Given the description of an element on the screen output the (x, y) to click on. 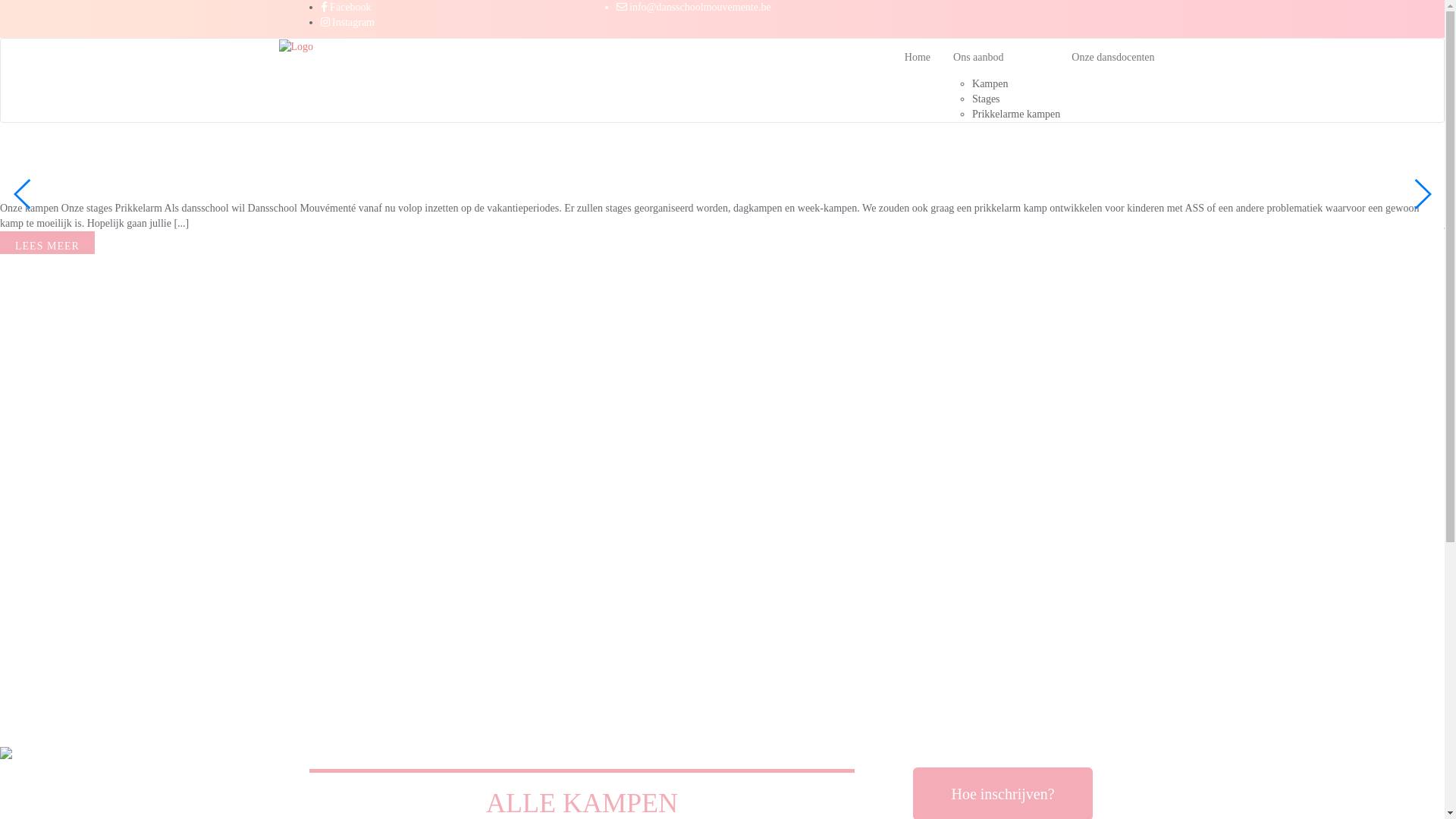
Instagram Element type: text (346, 22)
Ons aanbod Element type: text (1000, 57)
Facebook Element type: text (345, 6)
Stages Element type: text (986, 98)
Onze dansdocenten Element type: text (1112, 57)
info@dansschoolmouvemente.be Element type: text (692, 6)
LEES MEER Element type: text (47, 245)
Kampen Element type: text (989, 83)
Prikkelarme kampen Element type: text (1016, 113)
Home Element type: text (917, 57)
